Given the description of an element on the screen output the (x, y) to click on. 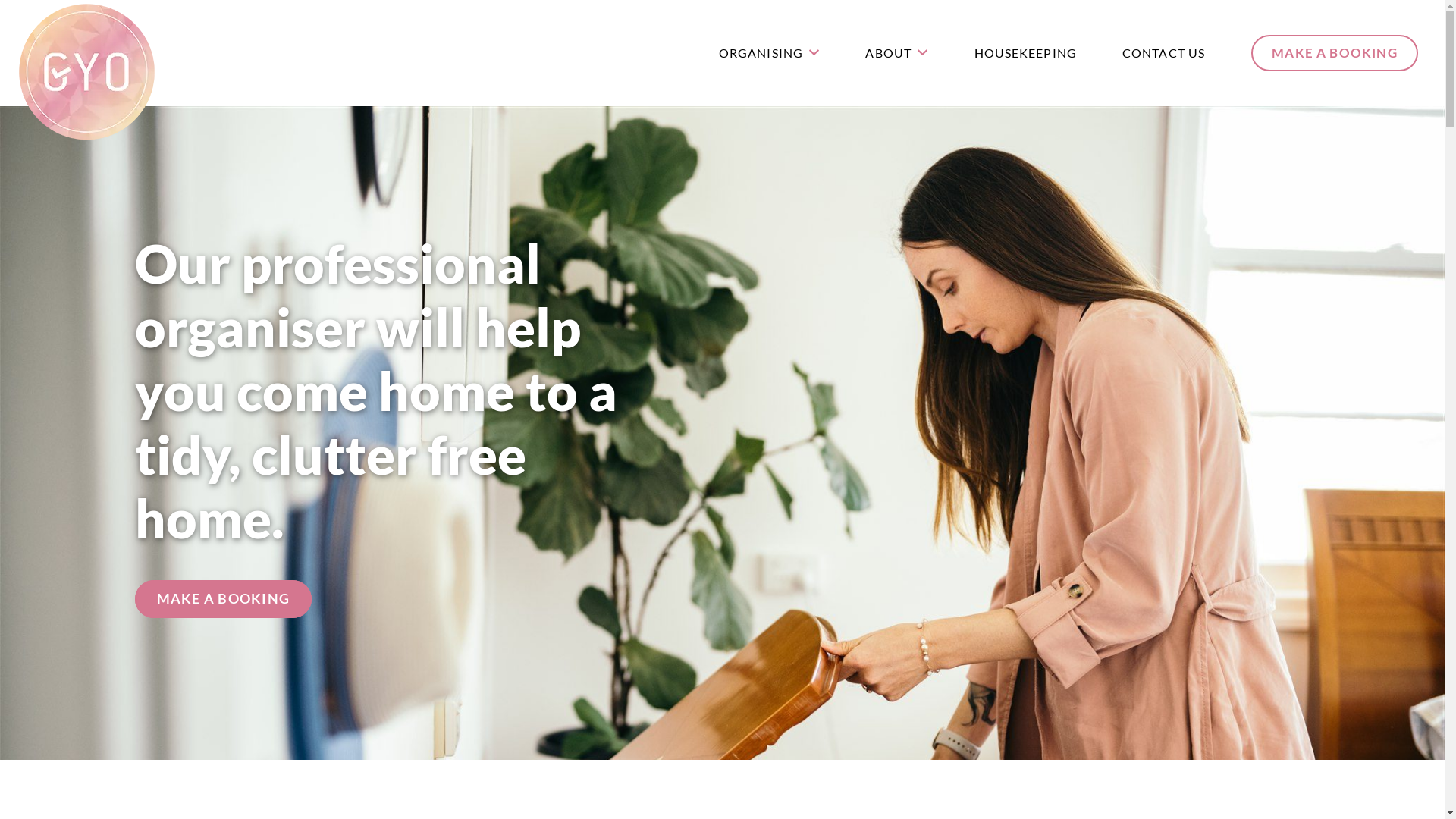
ABOUT Element type: text (896, 53)
MAKE A BOOKING Element type: text (1334, 52)
HOUSEKEEPING Element type: text (1024, 53)
CONTACT US Element type: text (1163, 53)
ORGANISING Element type: text (769, 53)
MAKE A BOOKING Element type: text (222, 599)
